Given the description of an element on the screen output the (x, y) to click on. 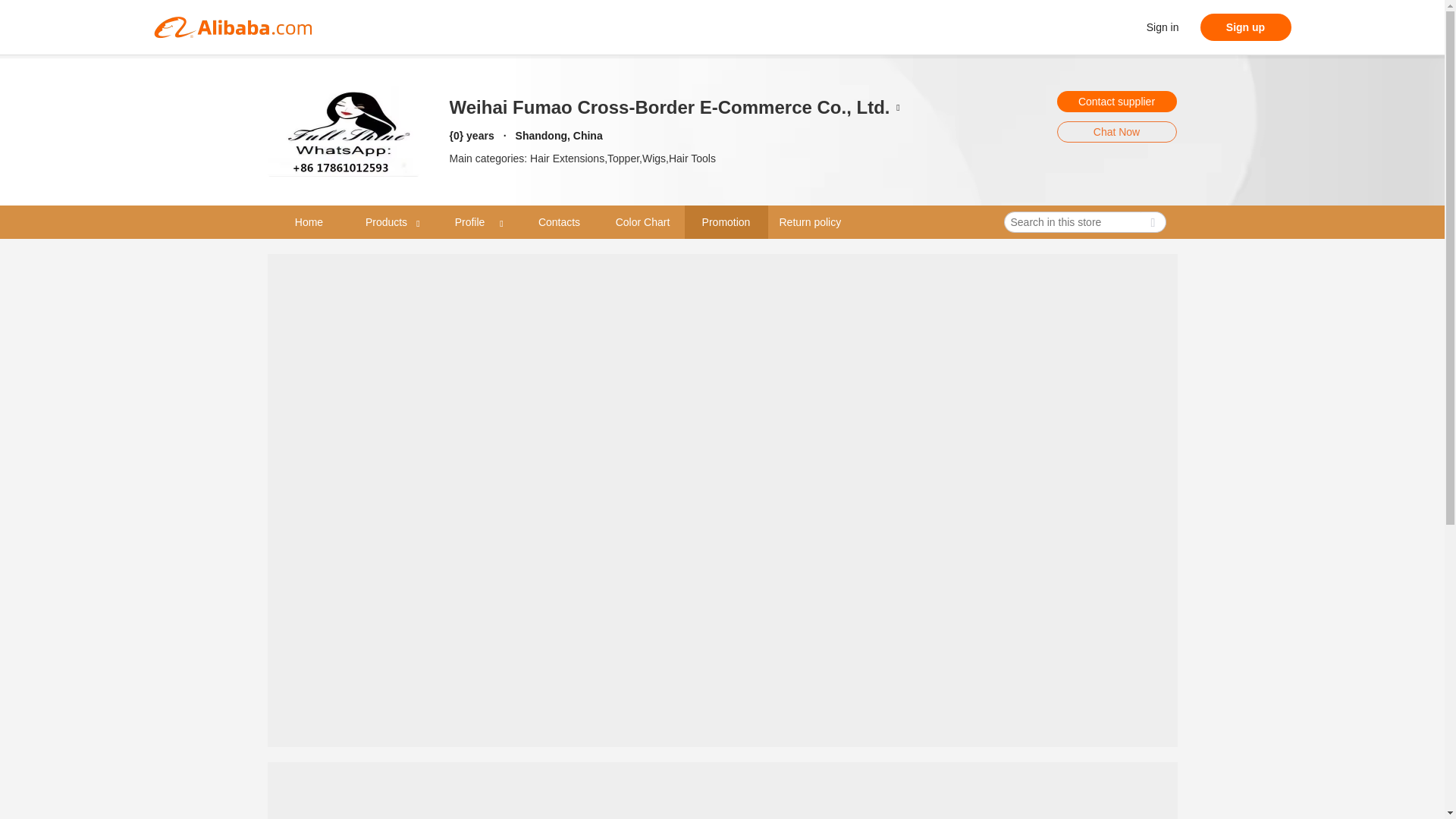
Promotion (725, 222)
Products (386, 222)
Color Chart (641, 222)
Color Chart (642, 222)
Profile (474, 222)
Home (308, 222)
Return policy (809, 222)
Products (391, 222)
Contacts (557, 222)
Return policy (809, 222)
